Given the description of an element on the screen output the (x, y) to click on. 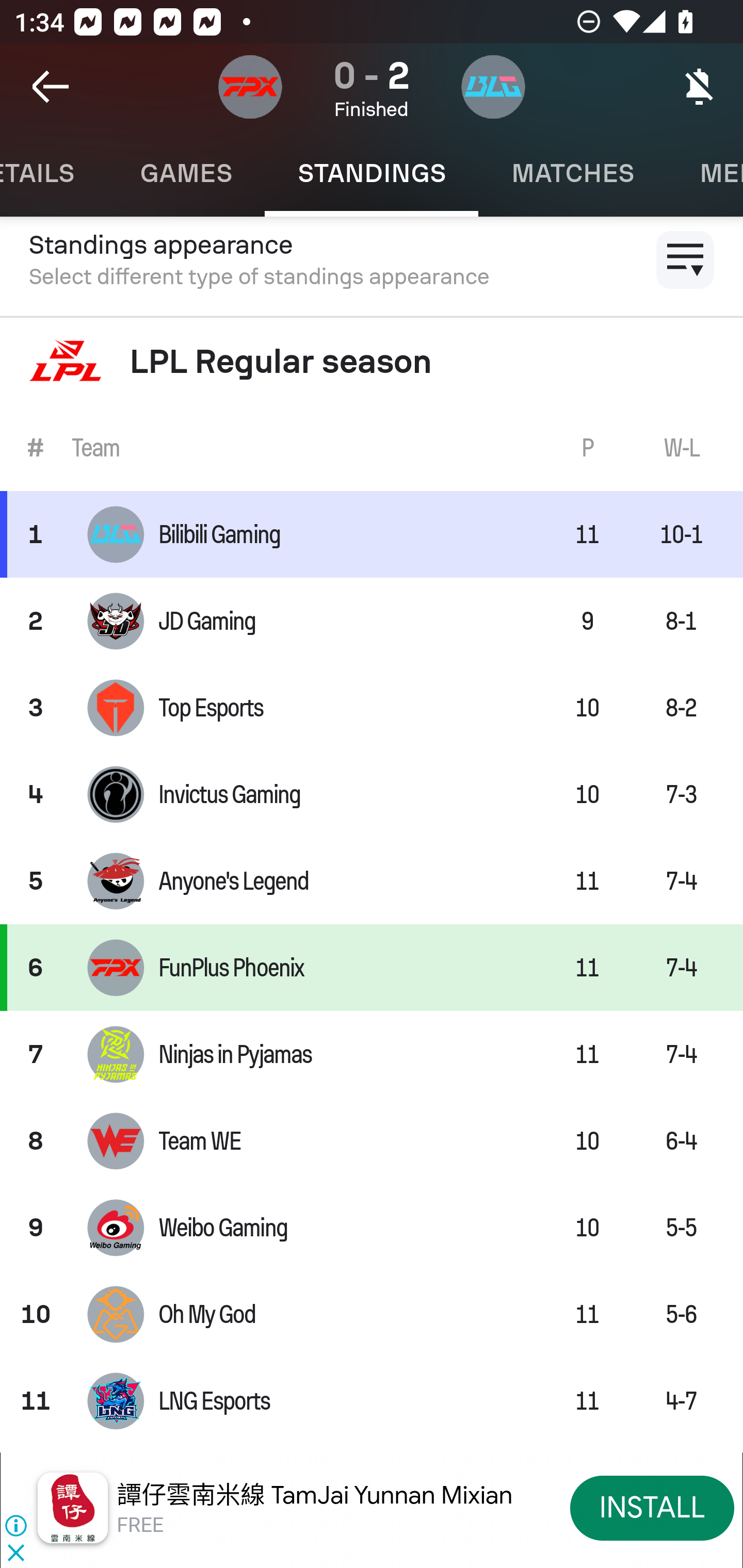
Navigate up (50, 86)
Details DETAILS (53, 173)
Games GAMES (185, 173)
Matches MATCHES (572, 173)
LPL Regular season (371, 361)
# Team P W-L (371, 447)
1 Bilibili Gaming 11 10-1 (371, 533)
1 (36, 533)
2 JD Gaming 9 8-1 (371, 620)
2 (36, 620)
3 Top Esports 10 8-2 (371, 707)
3 (36, 707)
4 Invictus Gaming 10 7-3 (371, 794)
4 (36, 794)
5 Anyone's Legend 11 7-4 (371, 880)
5 (36, 880)
6 FunPlus Phoenix 11 7-4 (371, 967)
6 (36, 967)
7 Ninjas in Pyjamas 11 7-4 (371, 1054)
7 (36, 1054)
8 Team WE 10 6-4 (371, 1140)
8 (36, 1140)
9 Weibo Gaming 10 5-5 (371, 1227)
9 (36, 1227)
10 Oh My God 11 5-6 (371, 1314)
10 (36, 1314)
11 LNG Esports 11 4-7 (371, 1400)
11 (36, 1400)
INSTALL (652, 1507)
譚仔雲南米線 TamJai Yunnan Mixian (314, 1494)
FREE (139, 1525)
